Given the description of an element on the screen output the (x, y) to click on. 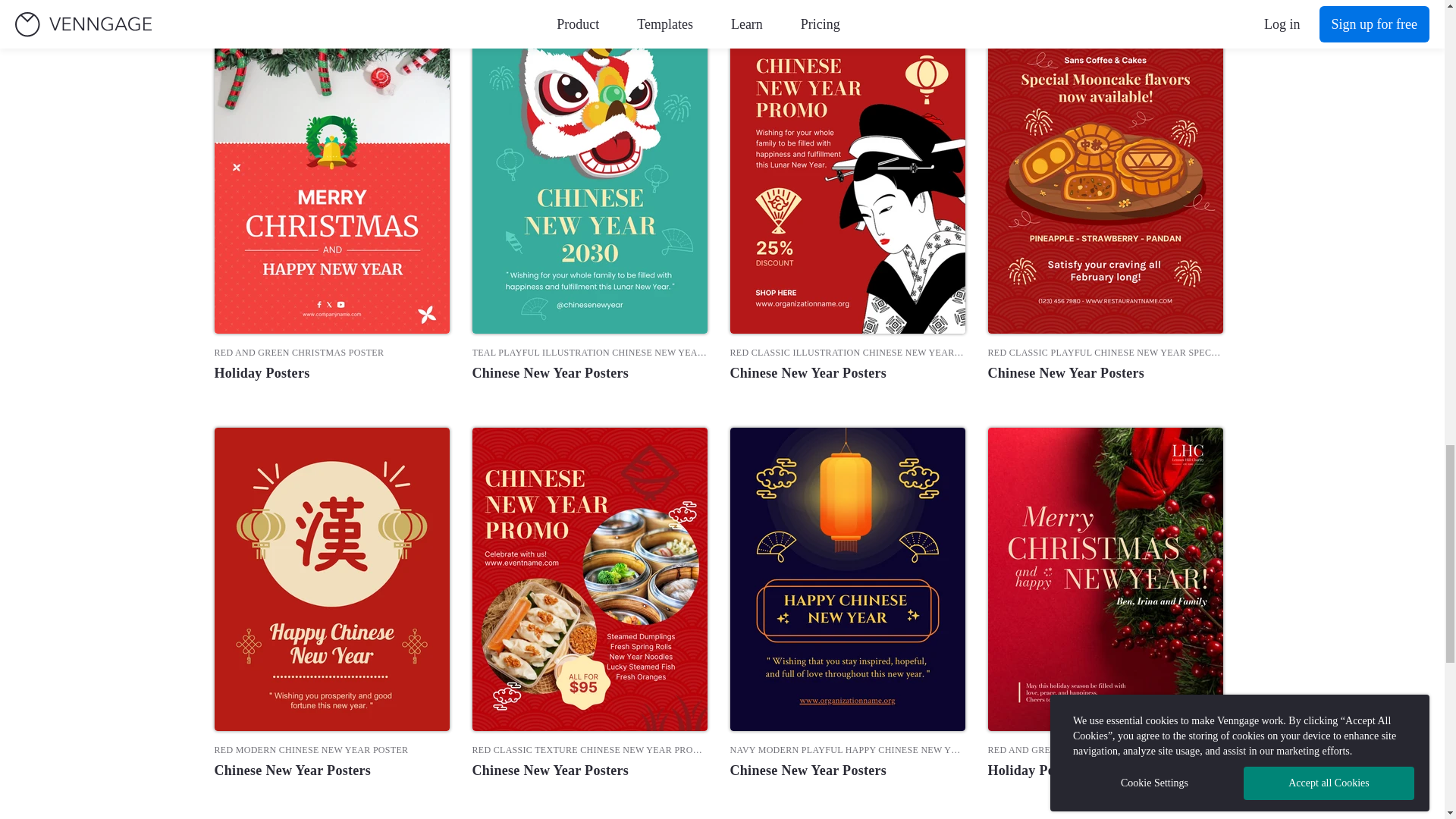
Red Modern Chinese New Year Poster (331, 749)
Chinese New Year Posters (331, 770)
View more templates in the 'holiday posters' category. (331, 372)
Chinese New Year Posters (588, 770)
Chinese New Year Posters (588, 372)
Red Classic Texture Chinese New Year Promo Poster (588, 749)
RED AND GREEN CHRISTMAS POSTER (331, 352)
RED CLASSIC TEXTURE CHINESE NEW YEAR PROMO POSTER (588, 749)
